Given the description of an element on the screen output the (x, y) to click on. 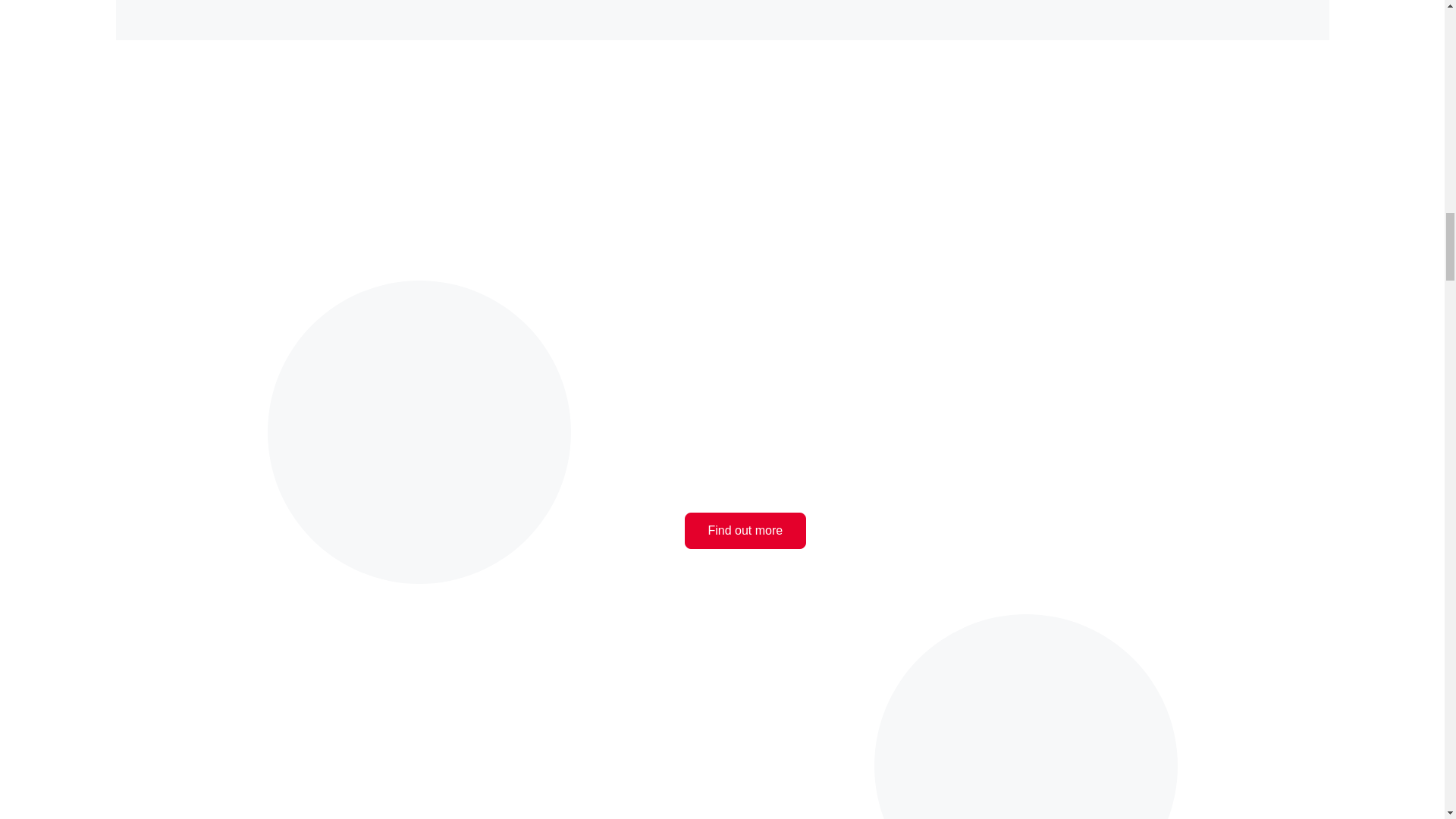
Find out more (745, 530)
